Given the description of an element on the screen output the (x, y) to click on. 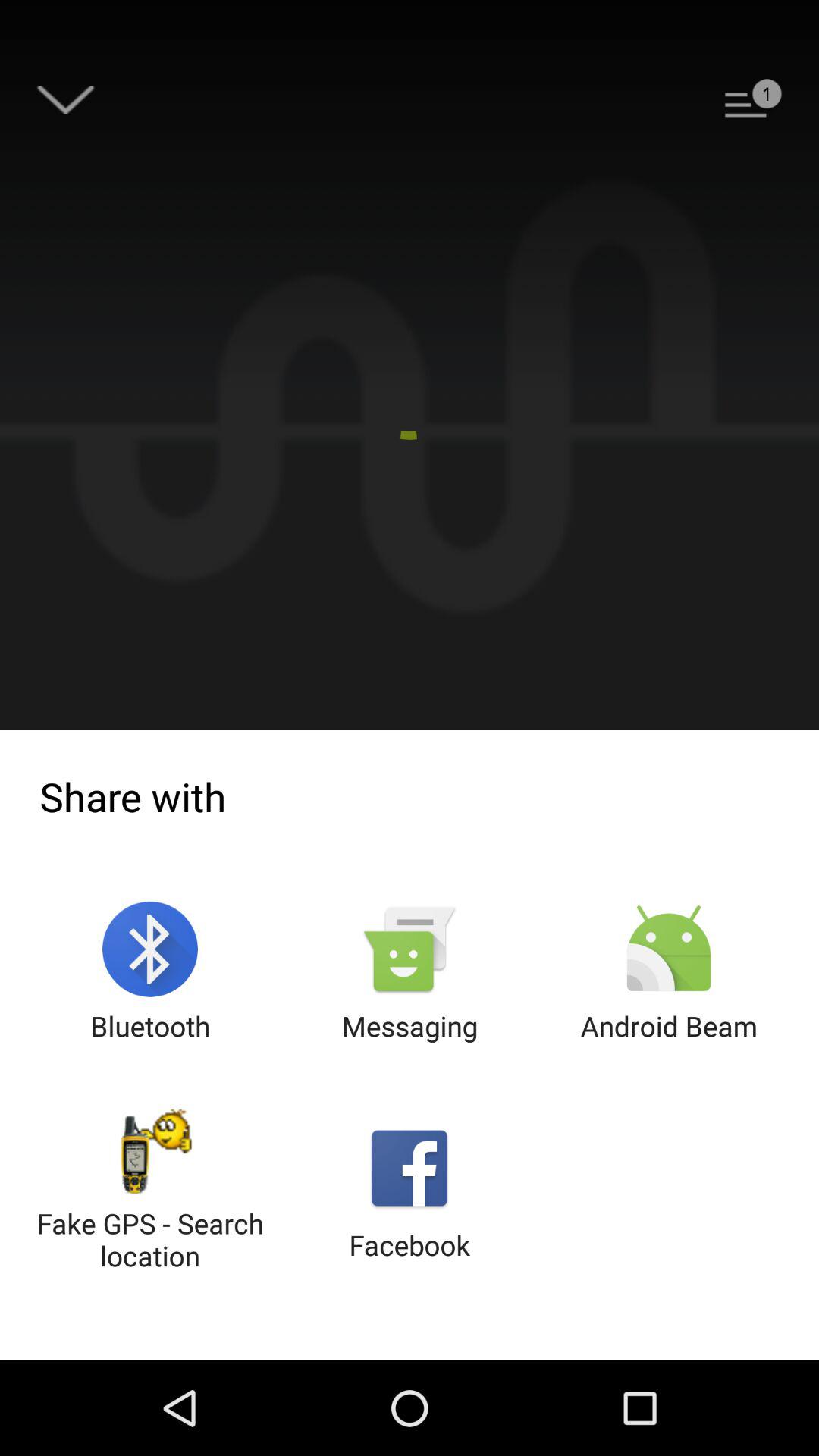
click item to the left of the facebook button (150, 1191)
